Given the description of an element on the screen output the (x, y) to click on. 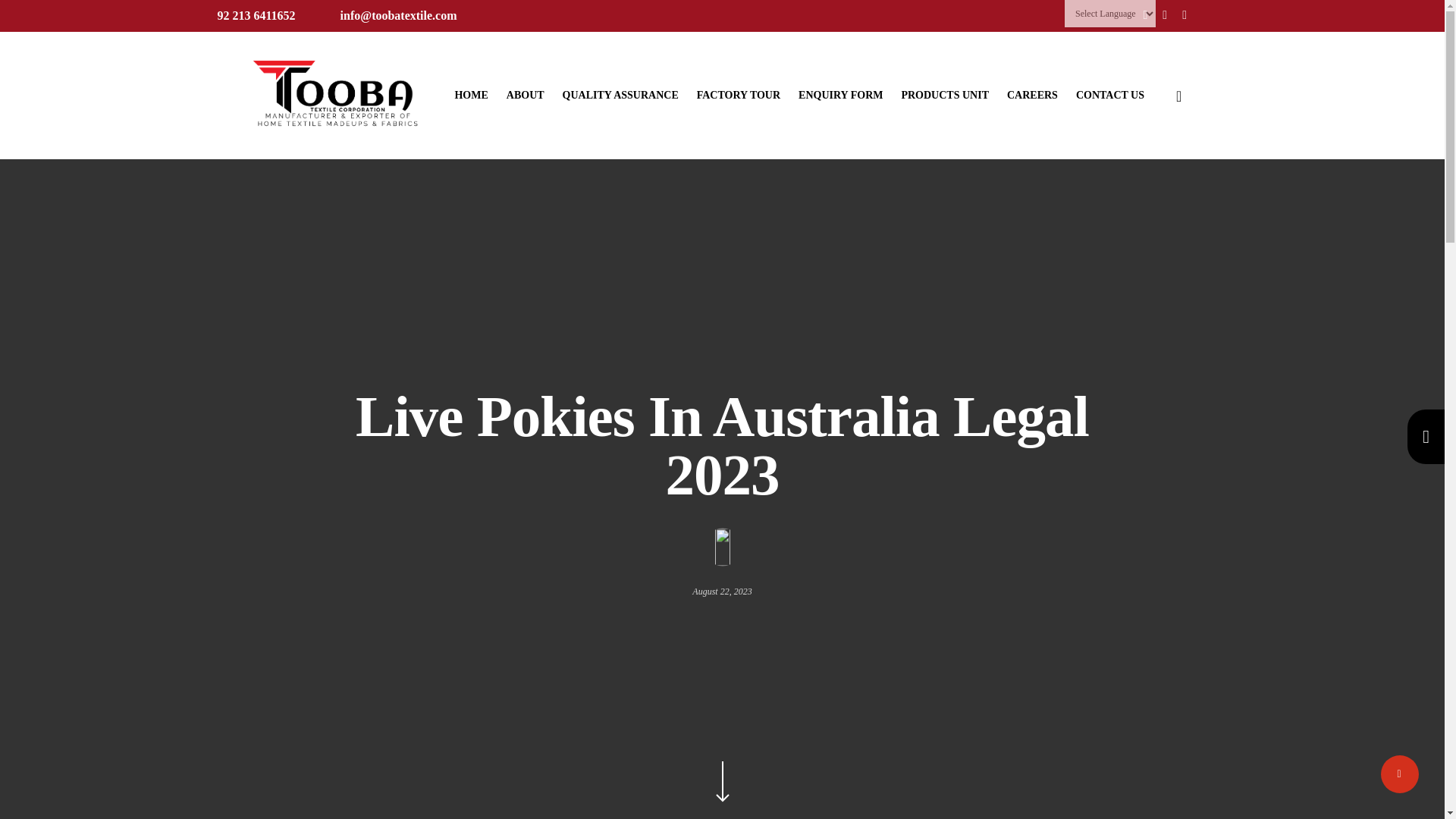
ABOUT (525, 95)
ENQUIRY FORM (839, 95)
CONTACT US (1109, 95)
92 213 6411652 (255, 15)
QUALITY ASSURANCE (620, 95)
PRODUCTS UNIT (944, 95)
HOME (470, 95)
CAREERS (1032, 95)
FACTORY TOUR (738, 95)
